Given the description of an element on the screen output the (x, y) to click on. 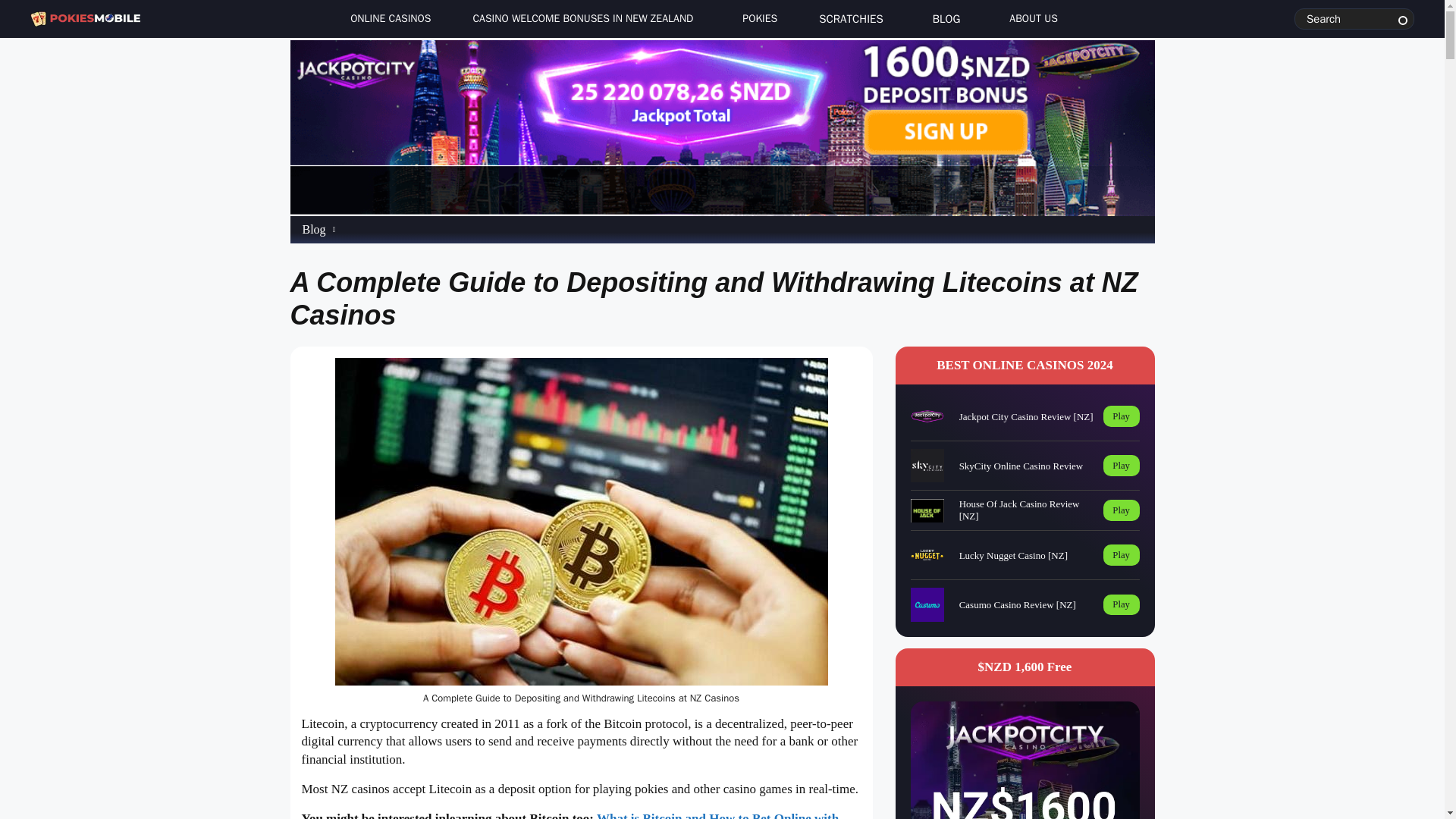
Go to the Blog category archives. (312, 229)
What is Bitcoin and How to Bet Online with Bitcoin (570, 815)
CASINO WELCOME BONUSES IN NEW ZEALAND (582, 20)
Blog (312, 229)
POKIES (755, 18)
ONLINE CASINOS (386, 18)
SCRATCHIES (850, 20)
BLOG (946, 20)
ABOUT US (1029, 18)
